Given the description of an element on the screen output the (x, y) to click on. 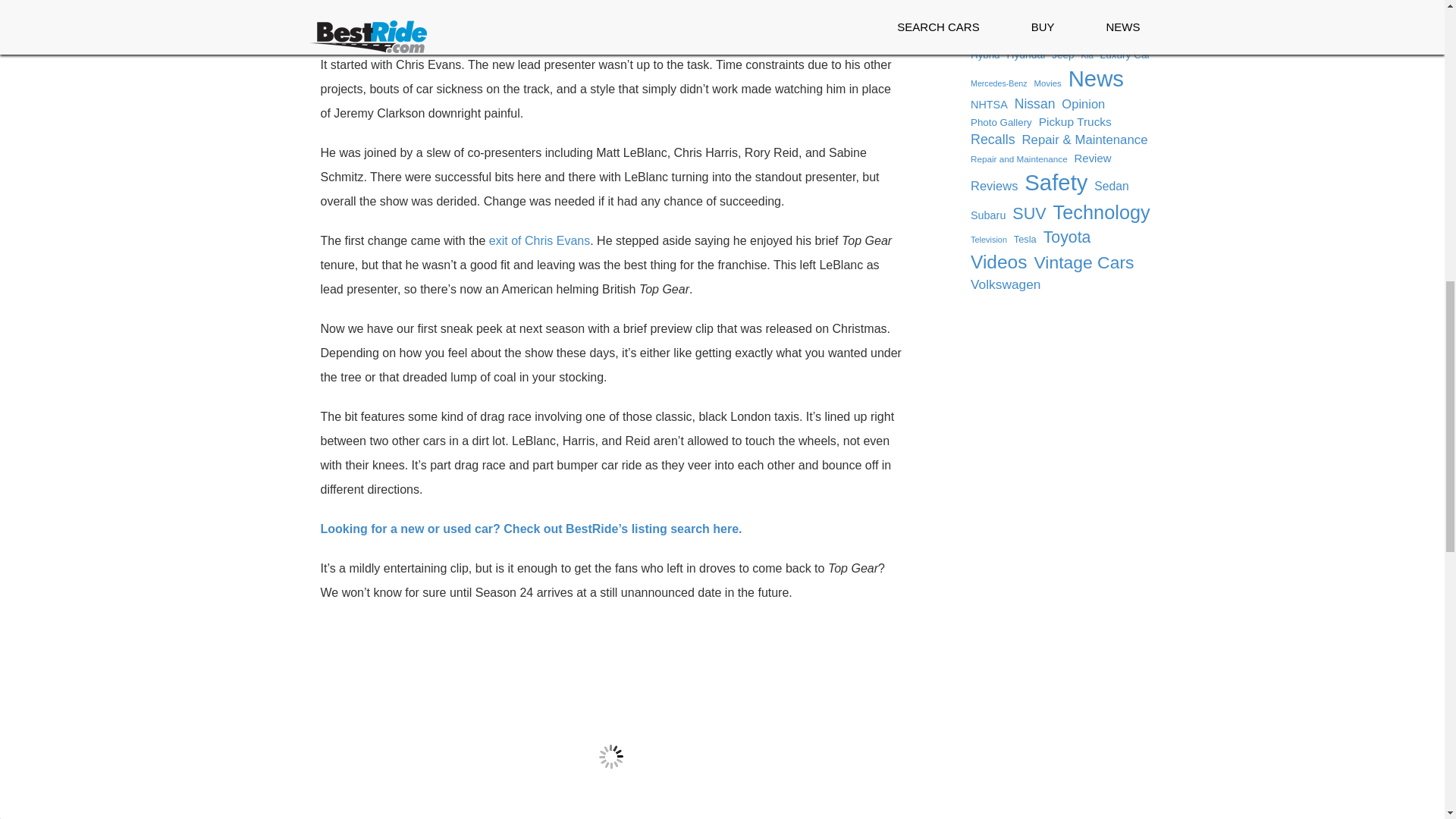
Top Gear: Series 24 Teaser (611, 719)
